Given the description of an element on the screen output the (x, y) to click on. 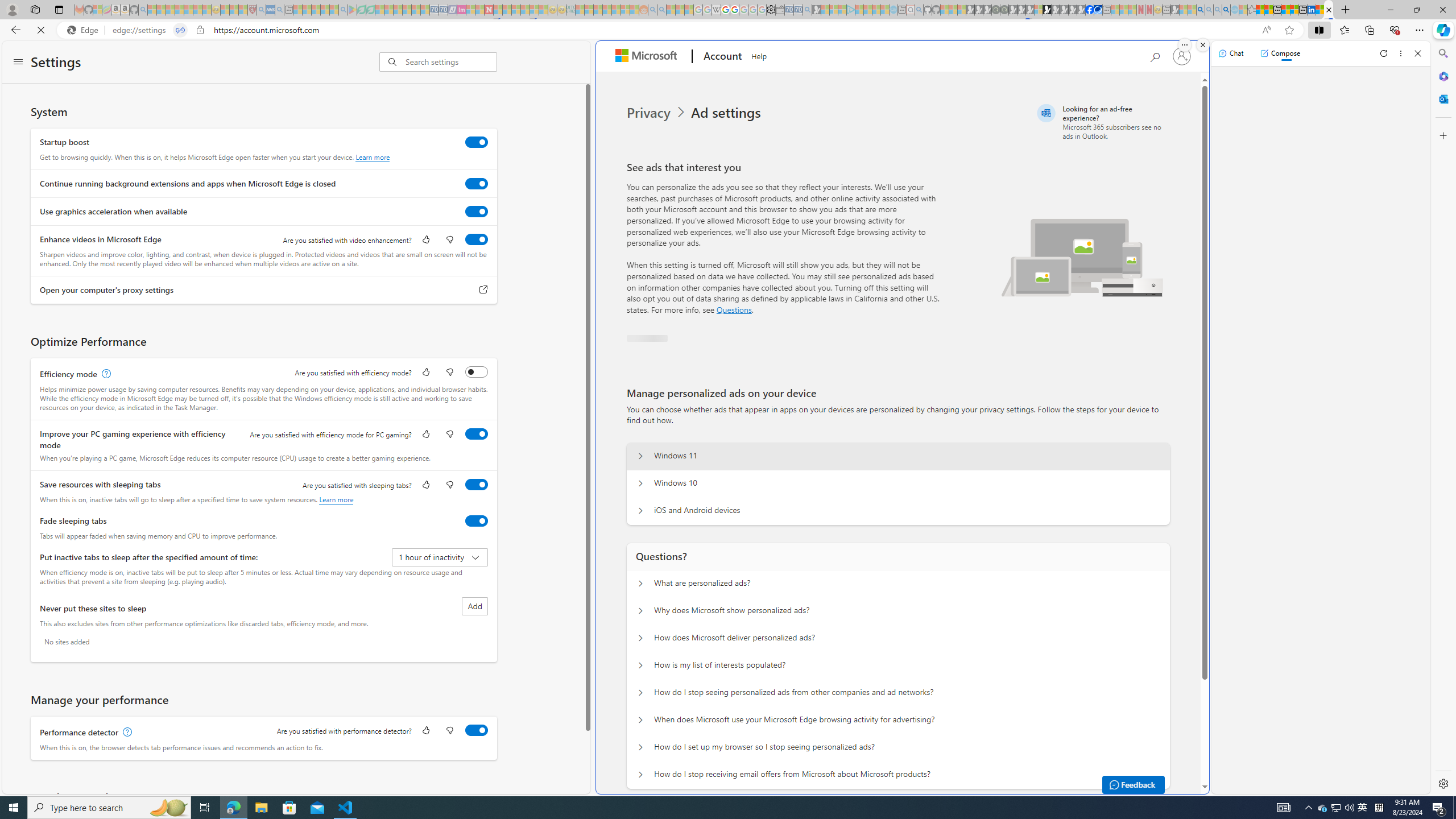
LinkedIn (1311, 9)
Pets - MSN - Sleeping (324, 9)
Search settings (451, 61)
Efficiency mode (476, 371)
Questions? What are personalized ads? (640, 583)
